Given the description of an element on the screen output the (x, y) to click on. 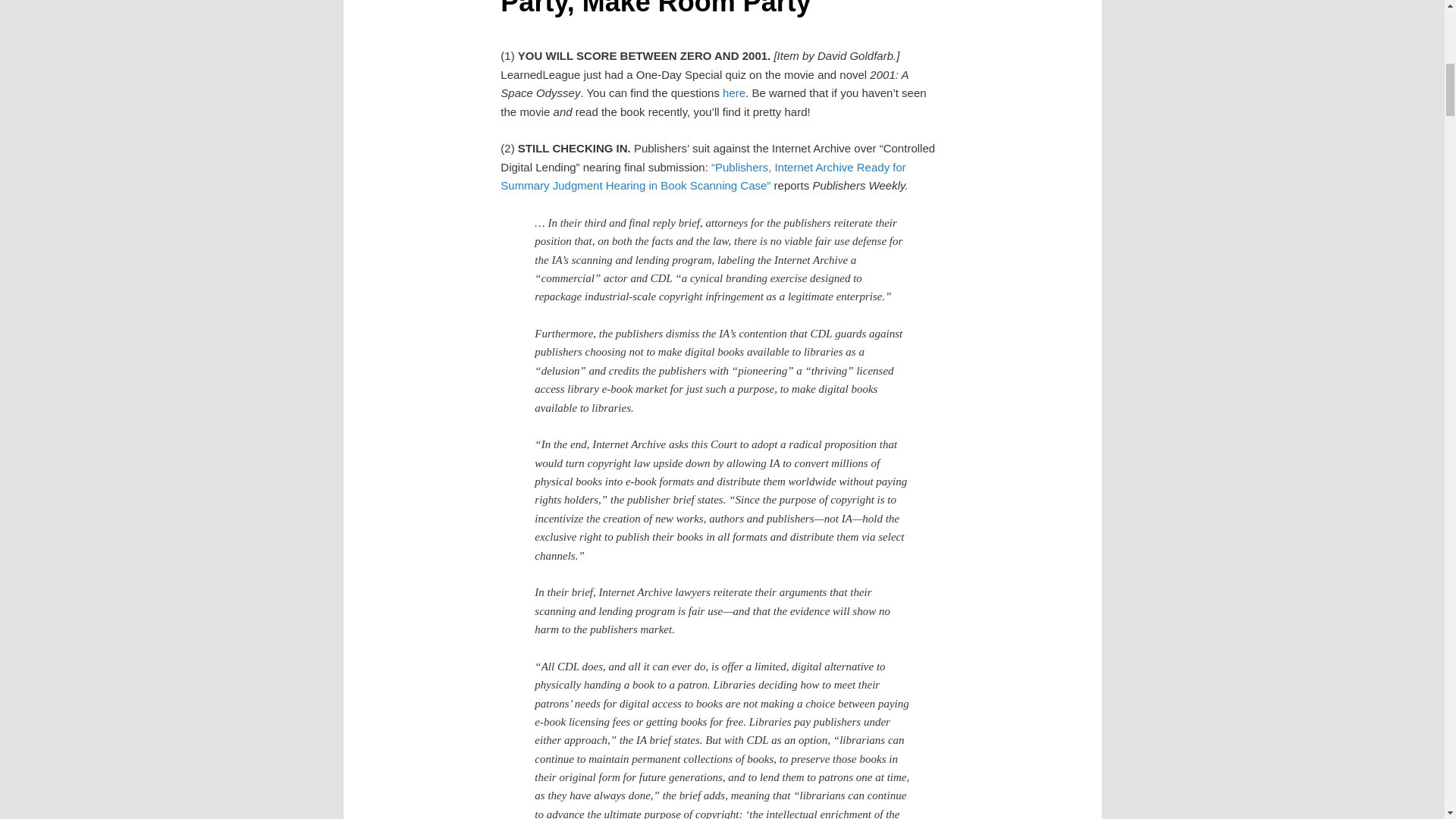
here (733, 92)
